Given the description of an element on the screen output the (x, y) to click on. 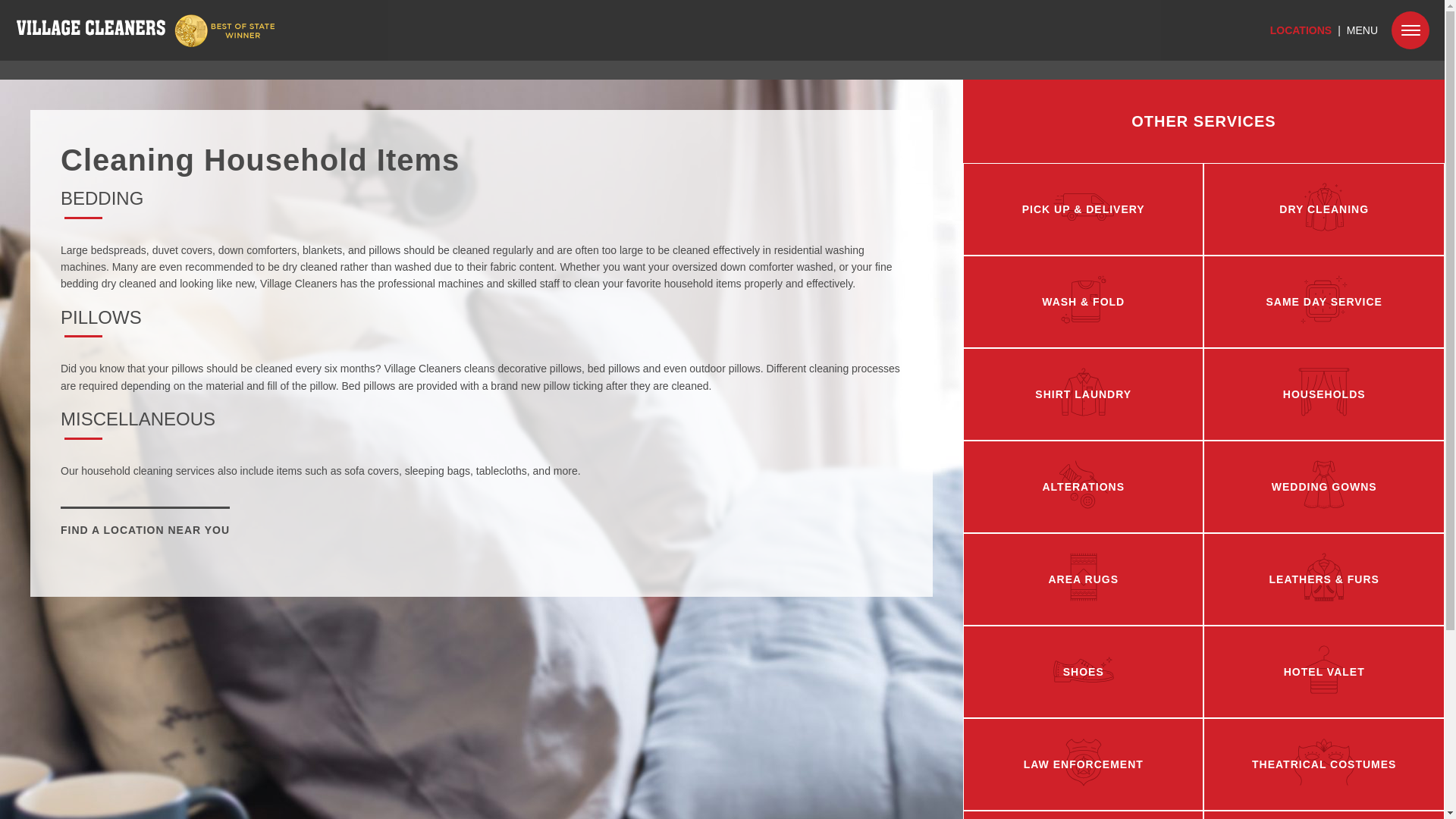
THEATRICAL COSTUMES (1323, 764)
MENU (1361, 30)
FIND A LOCATION NEAR YOU (145, 529)
HOUSEHOLDS (1323, 393)
SHIRT LAUNDRY (1082, 393)
SHOES (1082, 671)
HOTEL VALET (1323, 671)
WEDDING GOWNS (1323, 486)
AREA RUGS (1082, 578)
SAME DAY SERVICE (1323, 301)
